Given the description of an element on the screen output the (x, y) to click on. 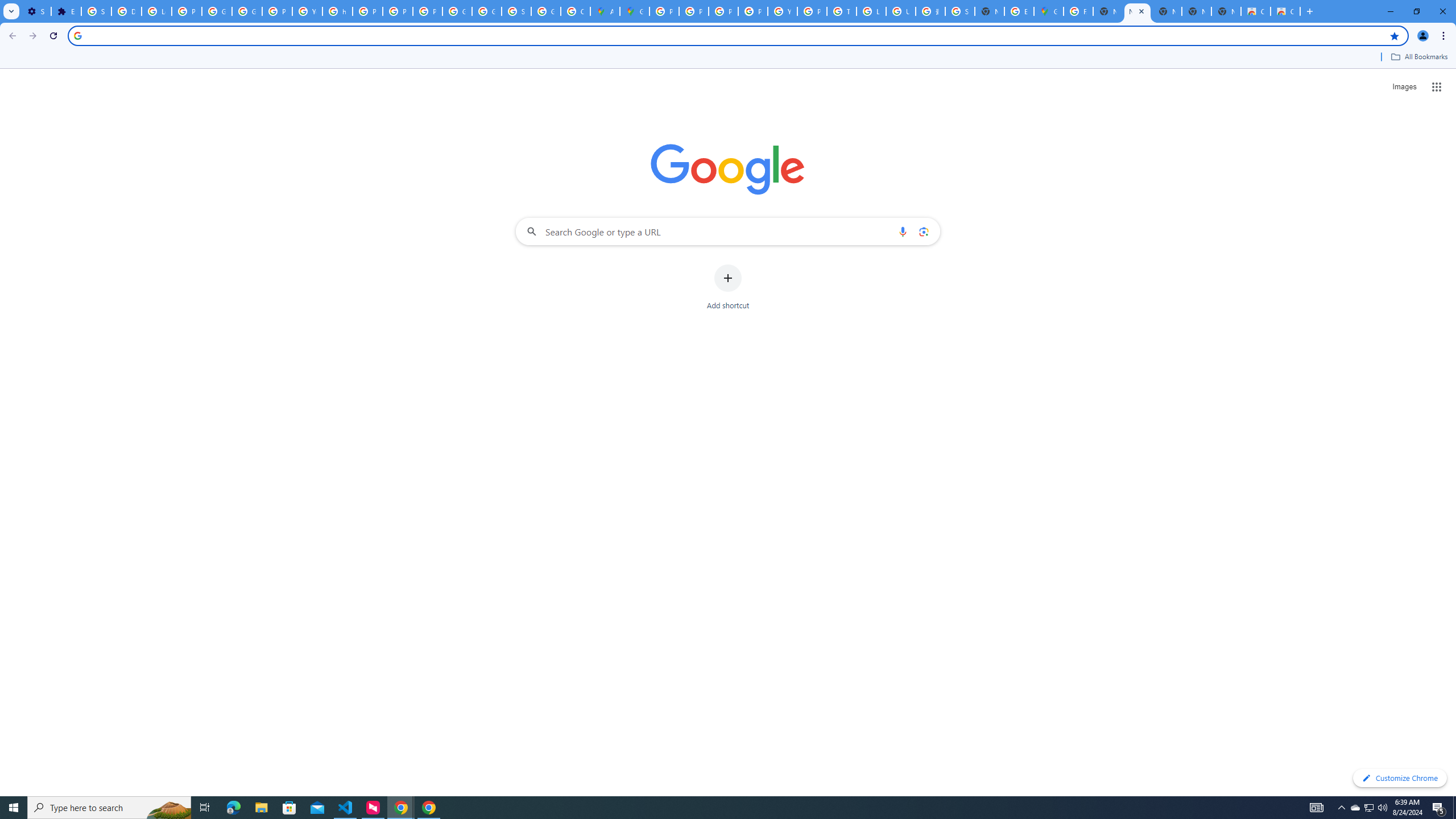
Classic Blue - Chrome Web Store (1255, 11)
Google Maps (1048, 11)
Learn how to find your photos - Google Photos Help (156, 11)
Customize Chrome (1399, 778)
Google apps (1436, 86)
Google Maps (634, 11)
Privacy Help Center - Policies Help (693, 11)
Bookmark this tab (1393, 35)
YouTube (306, 11)
Search tabs (10, 11)
